Given the description of an element on the screen output the (x, y) to click on. 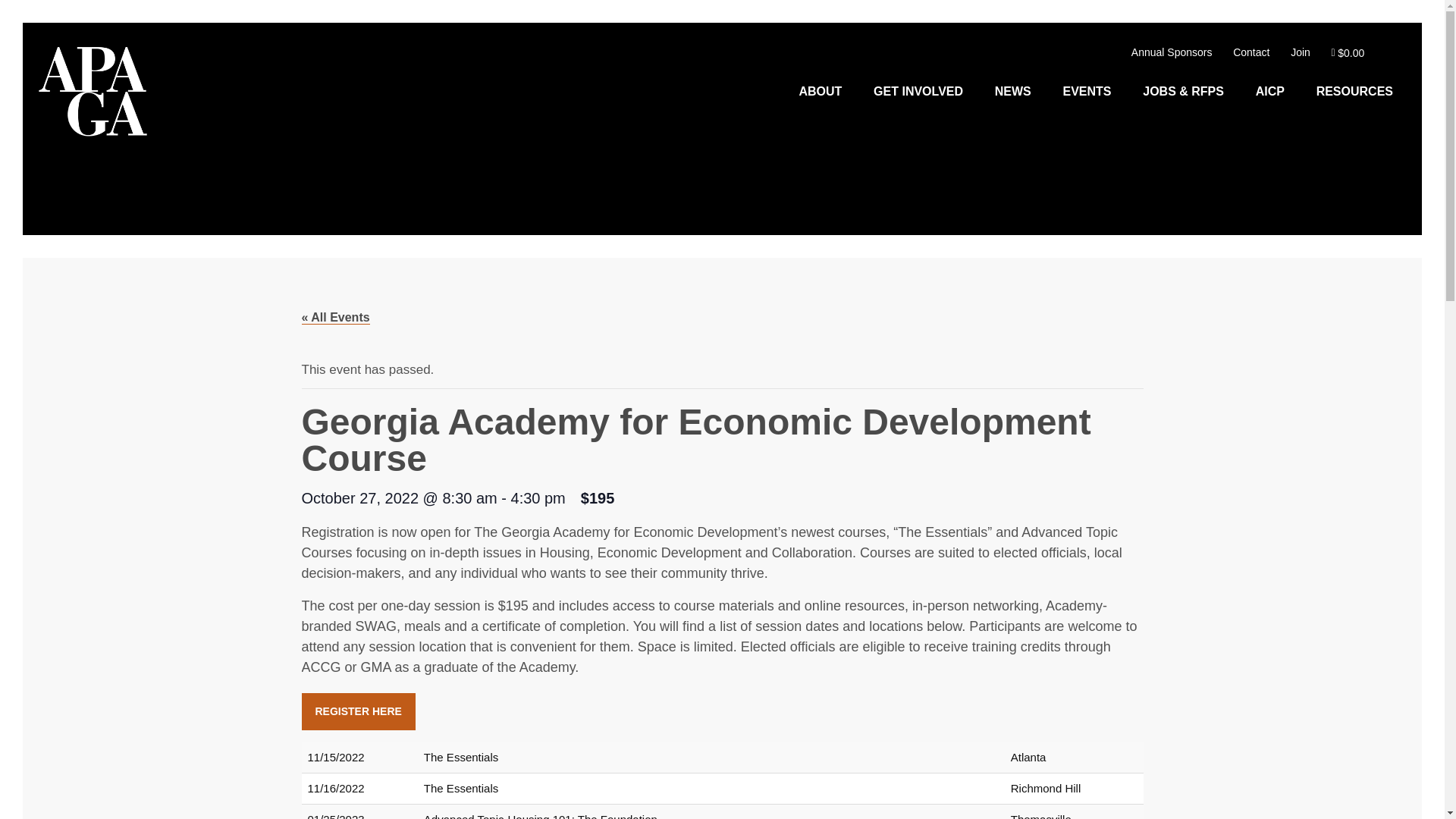
Contact (1250, 52)
Start shopping (1348, 52)
Georgia Planning Association (92, 94)
NEWS (1012, 91)
GET INVOLVED (918, 91)
Join (1299, 52)
Annual Sponsors (1172, 52)
ABOUT (819, 91)
